Given the description of an element on the screen output the (x, y) to click on. 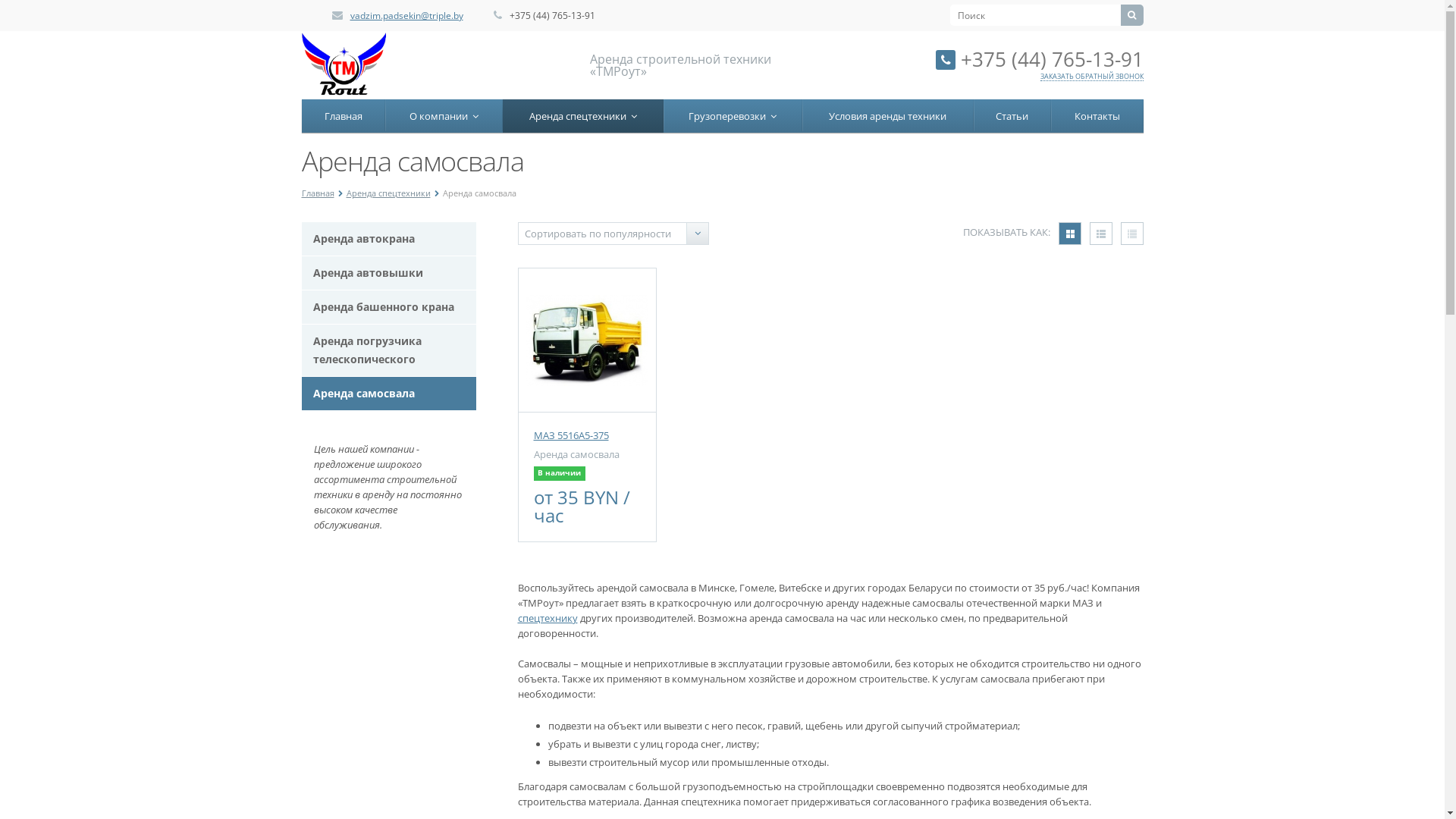
  Element type: text (1099, 233)
vadzim.padsekin@triple.by Element type: text (406, 15)
  Element type: text (1069, 233)
  Element type: text (1131, 233)
